Given the description of an element on the screen output the (x, y) to click on. 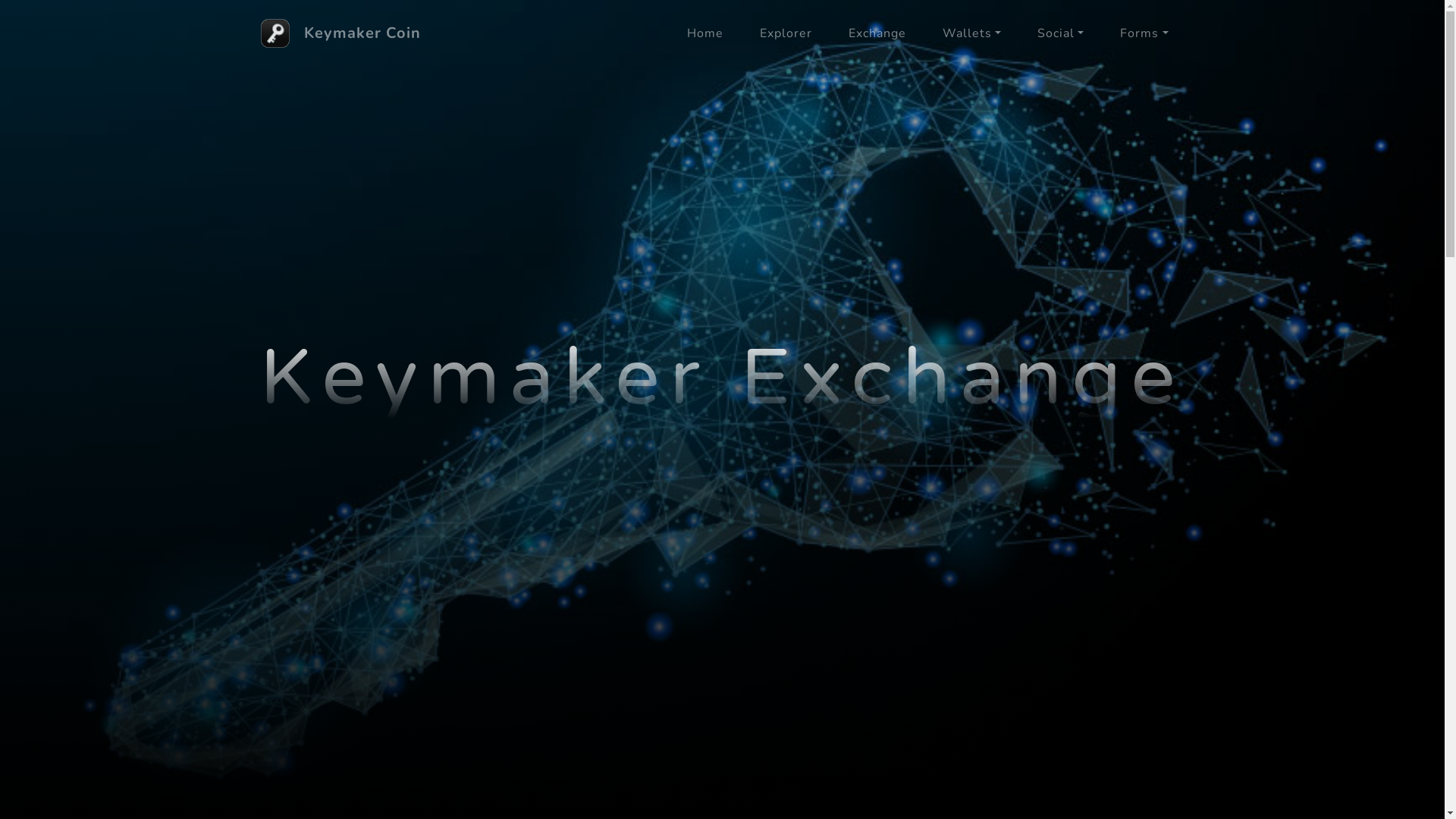
Forms Element type: text (1143, 33)
Social Element type: text (1060, 33)
Keymaker Coin Element type: text (361, 32)
Wallets Element type: text (971, 33)
Home Element type: text (704, 33)
Explorer Element type: text (785, 33)
Exchange Element type: text (877, 33)
